Given the description of an element on the screen output the (x, y) to click on. 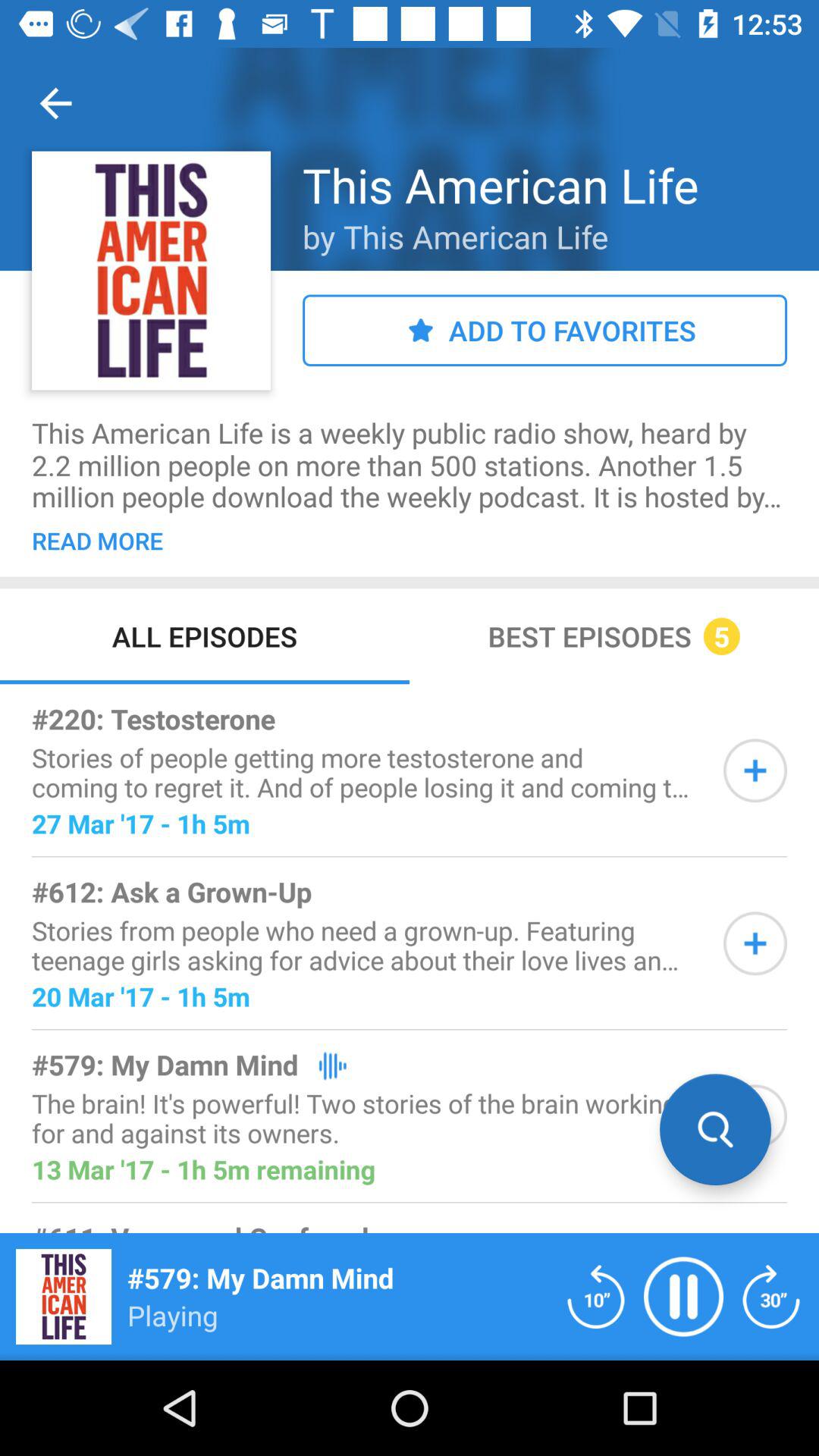
search option (715, 1129)
